Given the description of an element on the screen output the (x, y) to click on. 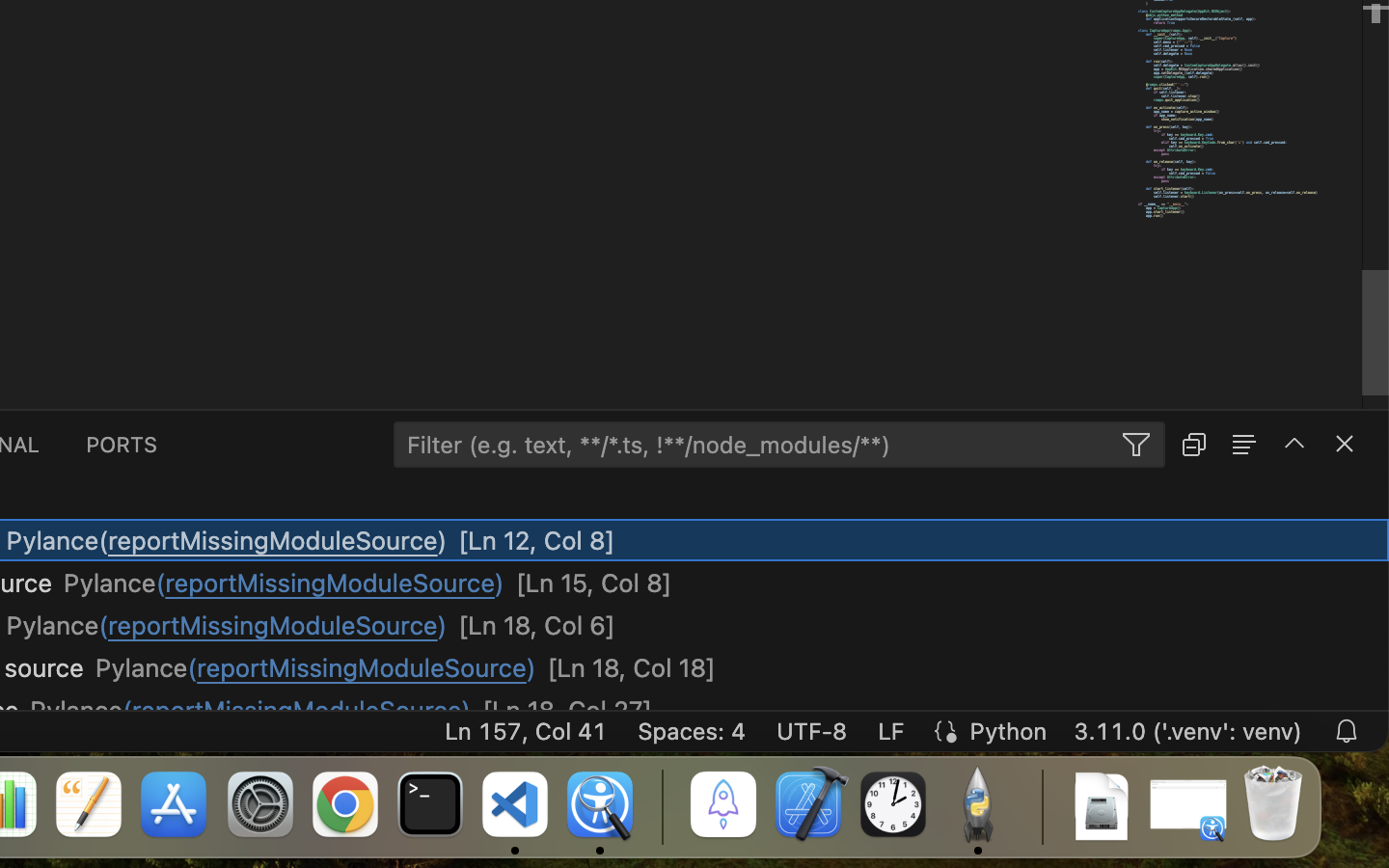
[Ln 12, Col 8] Element type: AXStaticText (537, 540)
[Ln 18, Col 18] Element type: AXStaticText (631, 667)
reportMissingModuleSource Element type: AXStaticText (272, 625)
[Ln 15, Col 8] Element type: AXStaticText (594, 583)
Pylance Element type: AXStaticText (52, 625)
